Given the description of an element on the screen output the (x, y) to click on. 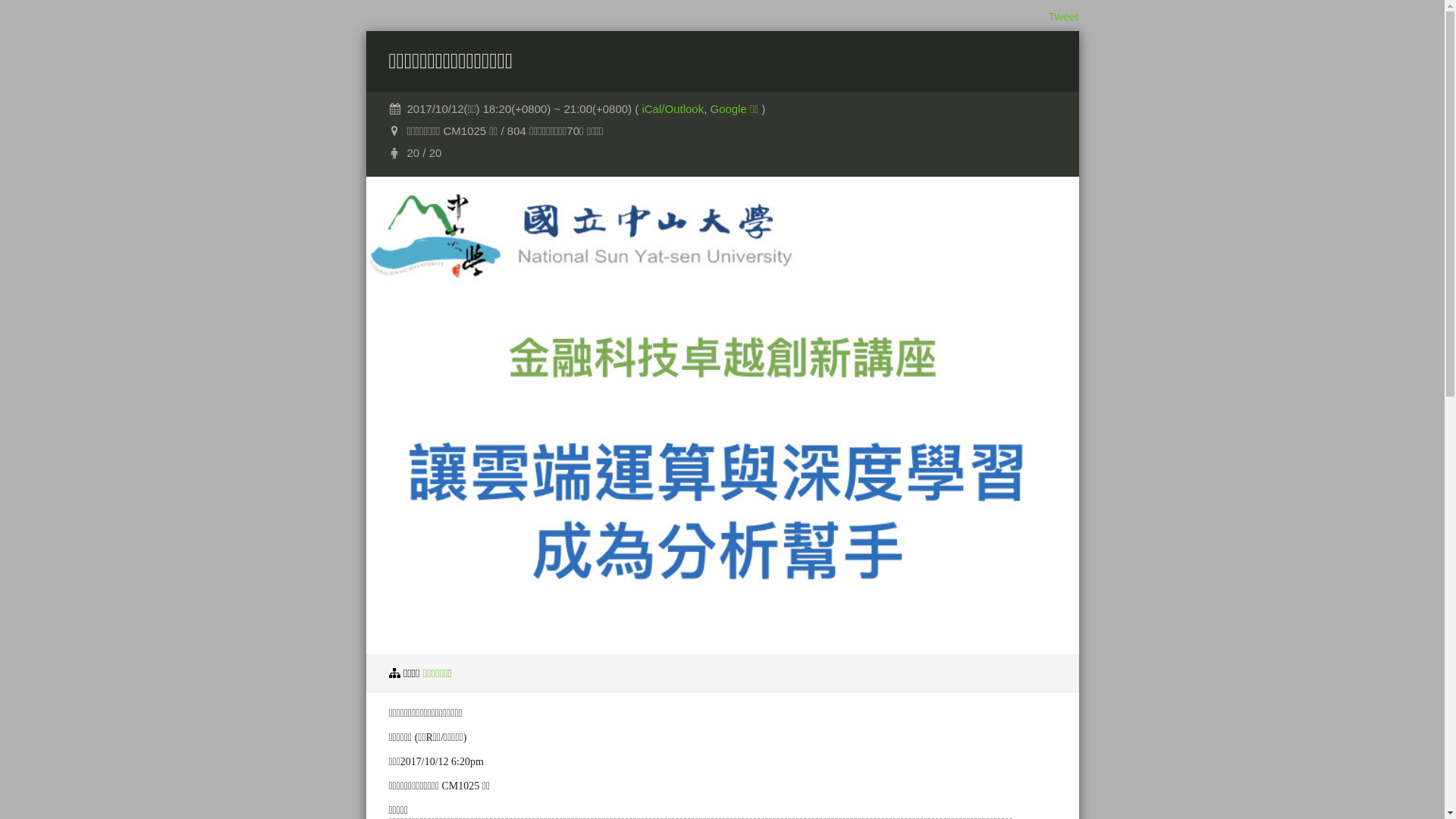
Tweet Element type: text (1063, 15)
iCal/Outlook Element type: text (672, 108)
